Given the description of an element on the screen output the (x, y) to click on. 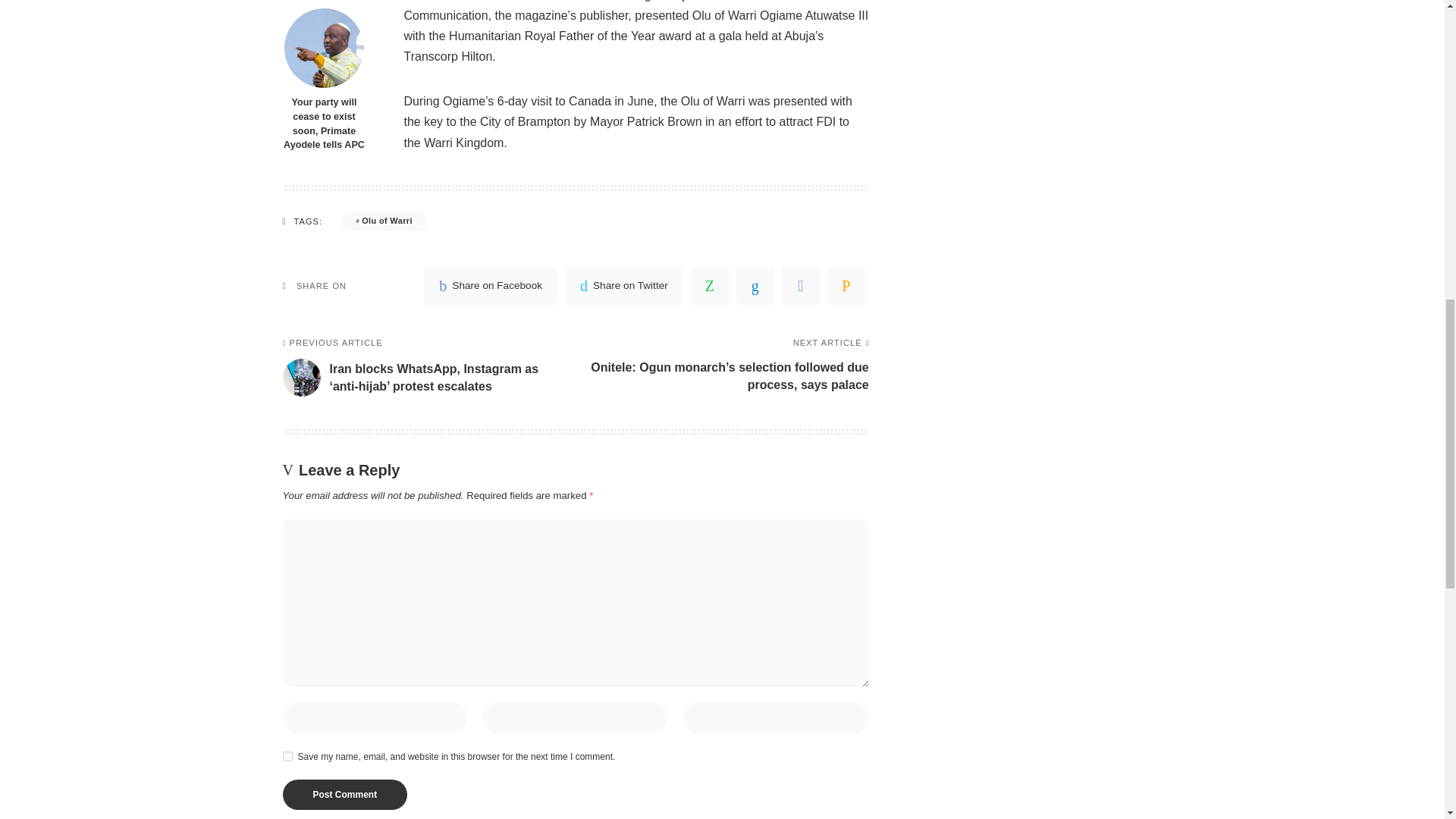
Post Comment (344, 794)
yes (287, 756)
